Given the description of an element on the screen output the (x, y) to click on. 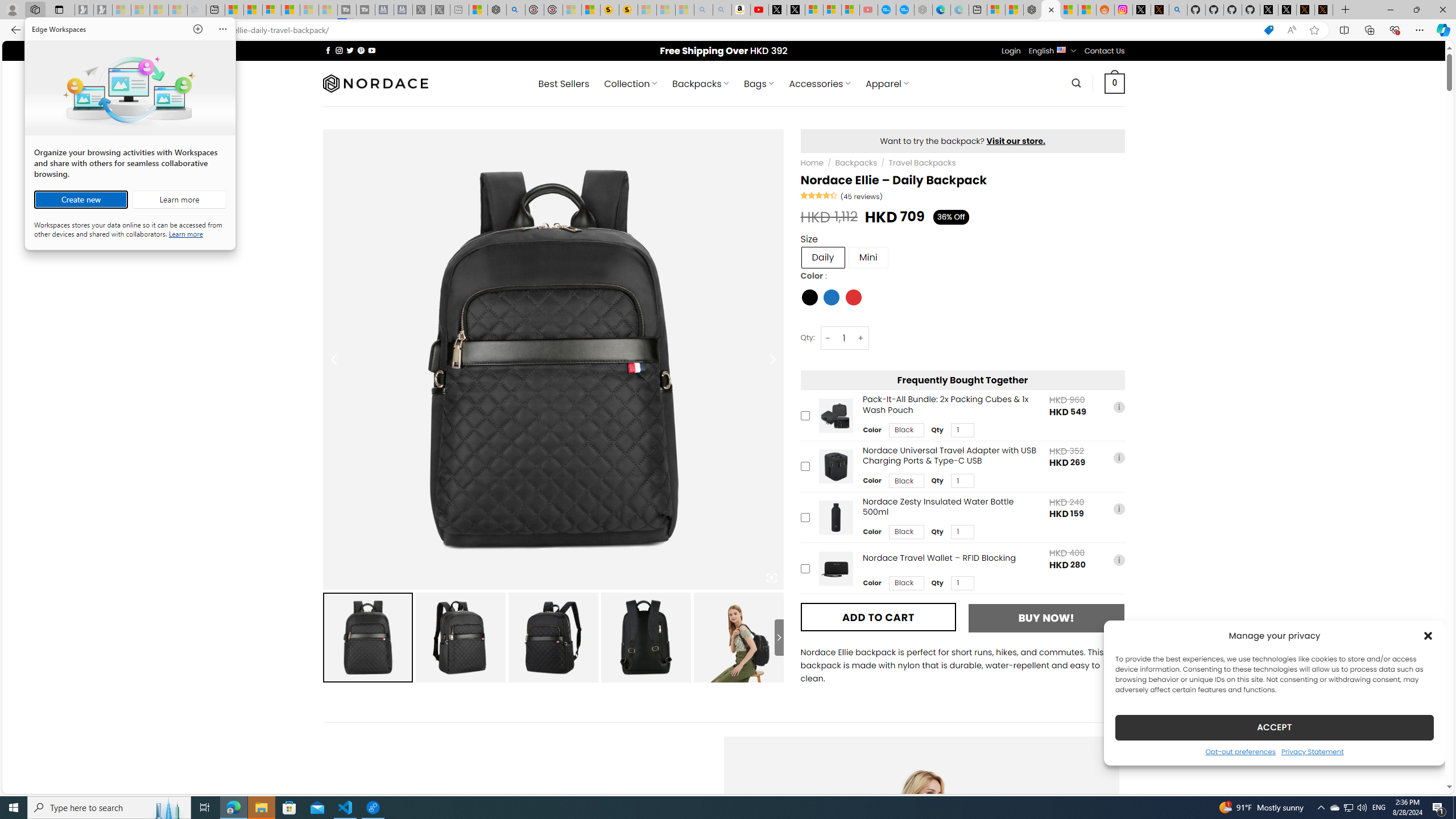
Nordace - Nordace has arrived Hong Kong - Sleeping (923, 9)
Microsoft Start - Sleeping (309, 9)
help.x.com | 524: A timeout occurred (1159, 9)
Nordace Ellie - Daily Backpack (1050, 9)
Nordace Ellie - Daily Backpack quantity (843, 337)
Microsoft account | Microsoft Account Privacy Settings (996, 9)
Learn more about Workspaces (178, 199)
Microsoft Edge - 1 running window (233, 807)
Gloom - YouTube - Sleeping (868, 9)
Visual Studio Code - 1 running window (345, 807)
